Given the description of an element on the screen output the (x, y) to click on. 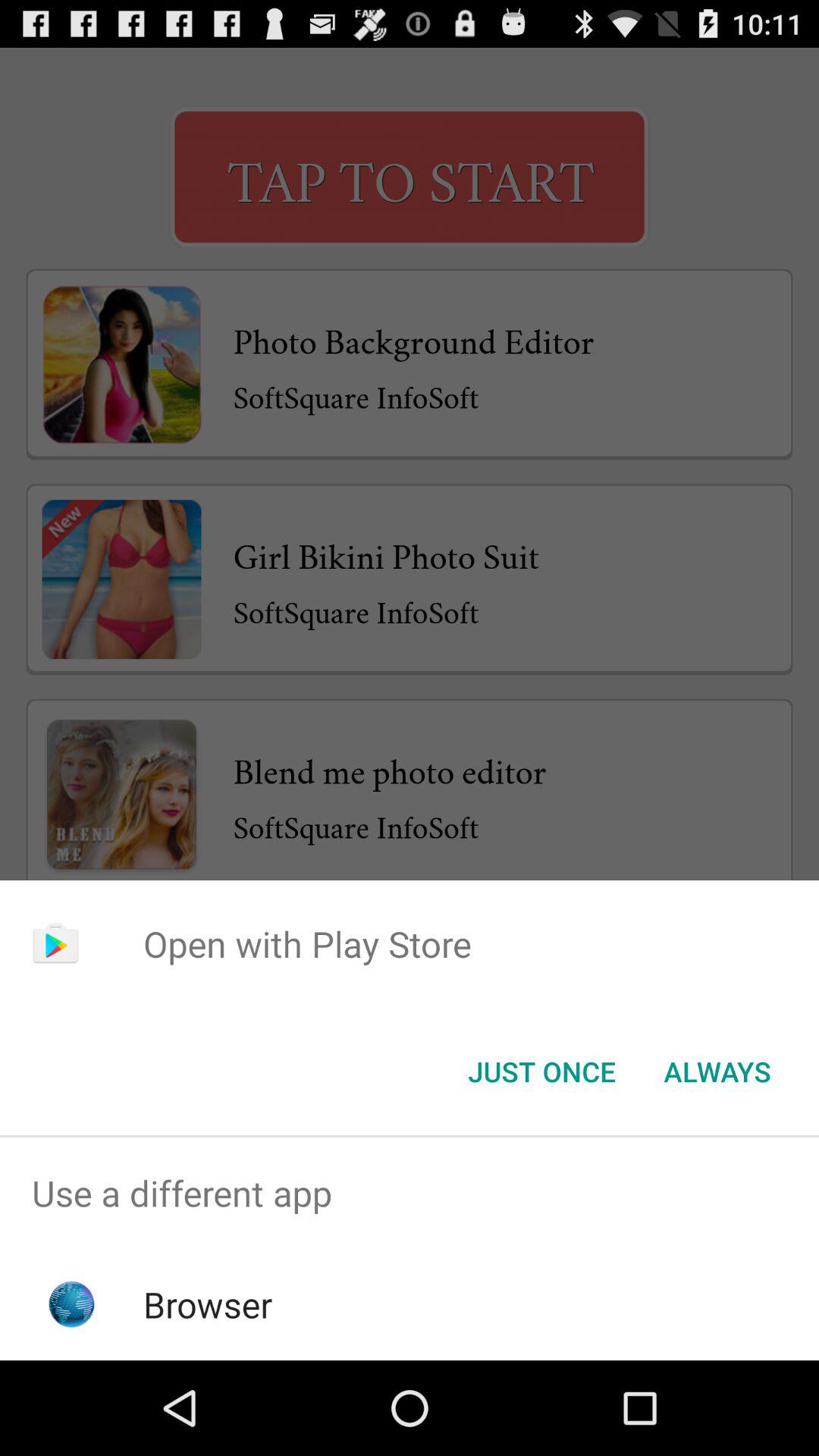
select the just once button (541, 1071)
